Given the description of an element on the screen output the (x, y) to click on. 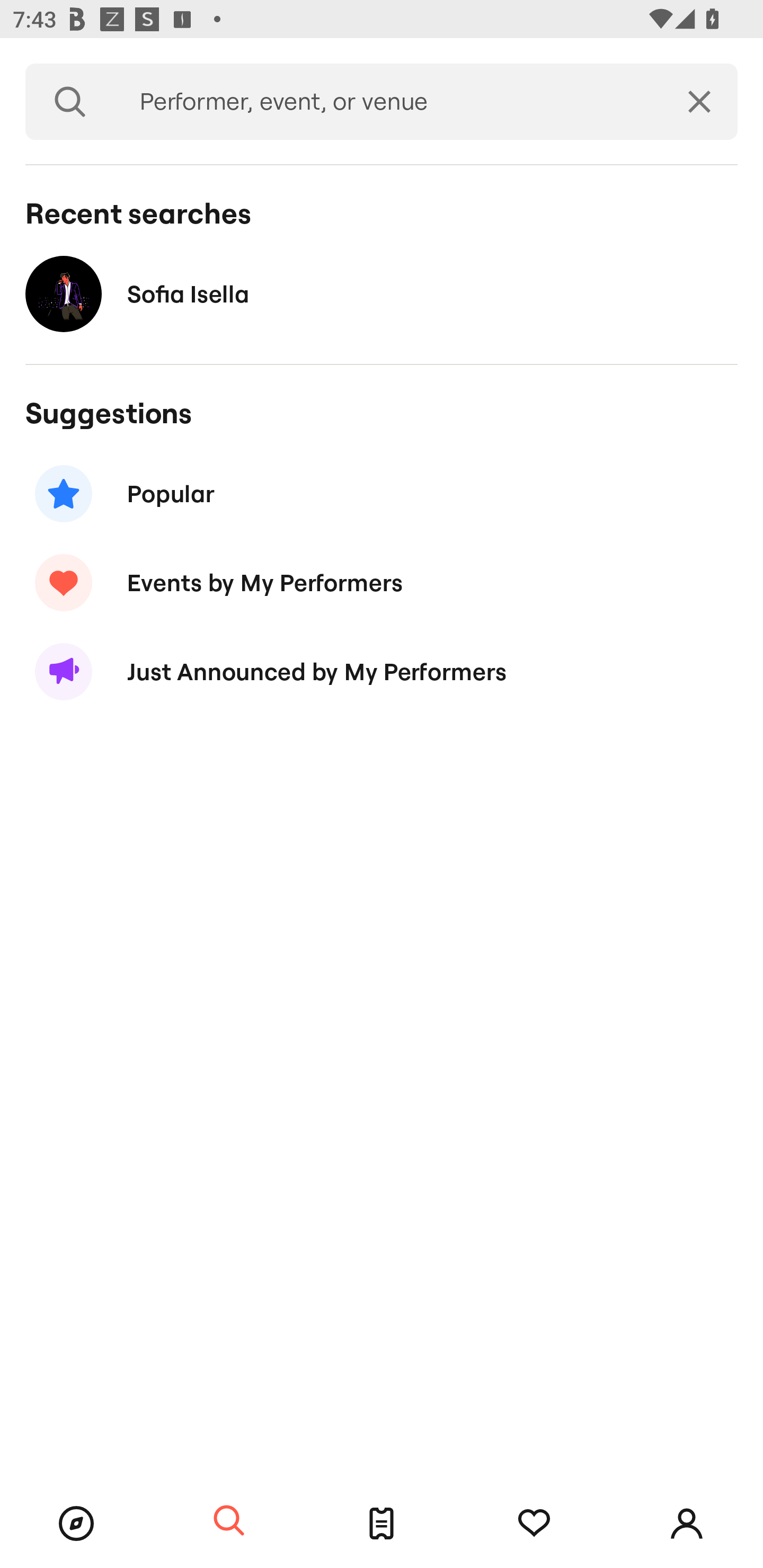
Search (69, 101)
Performer, event, or venue (387, 101)
Clear (699, 101)
Sofia Isella (381, 293)
Popular (381, 492)
Events by My Performers (381, 582)
Just Announced by My Performers (381, 671)
Browse (76, 1523)
Search (228, 1521)
Tickets (381, 1523)
Tracking (533, 1523)
Account (686, 1523)
